Given the description of an element on the screen output the (x, y) to click on. 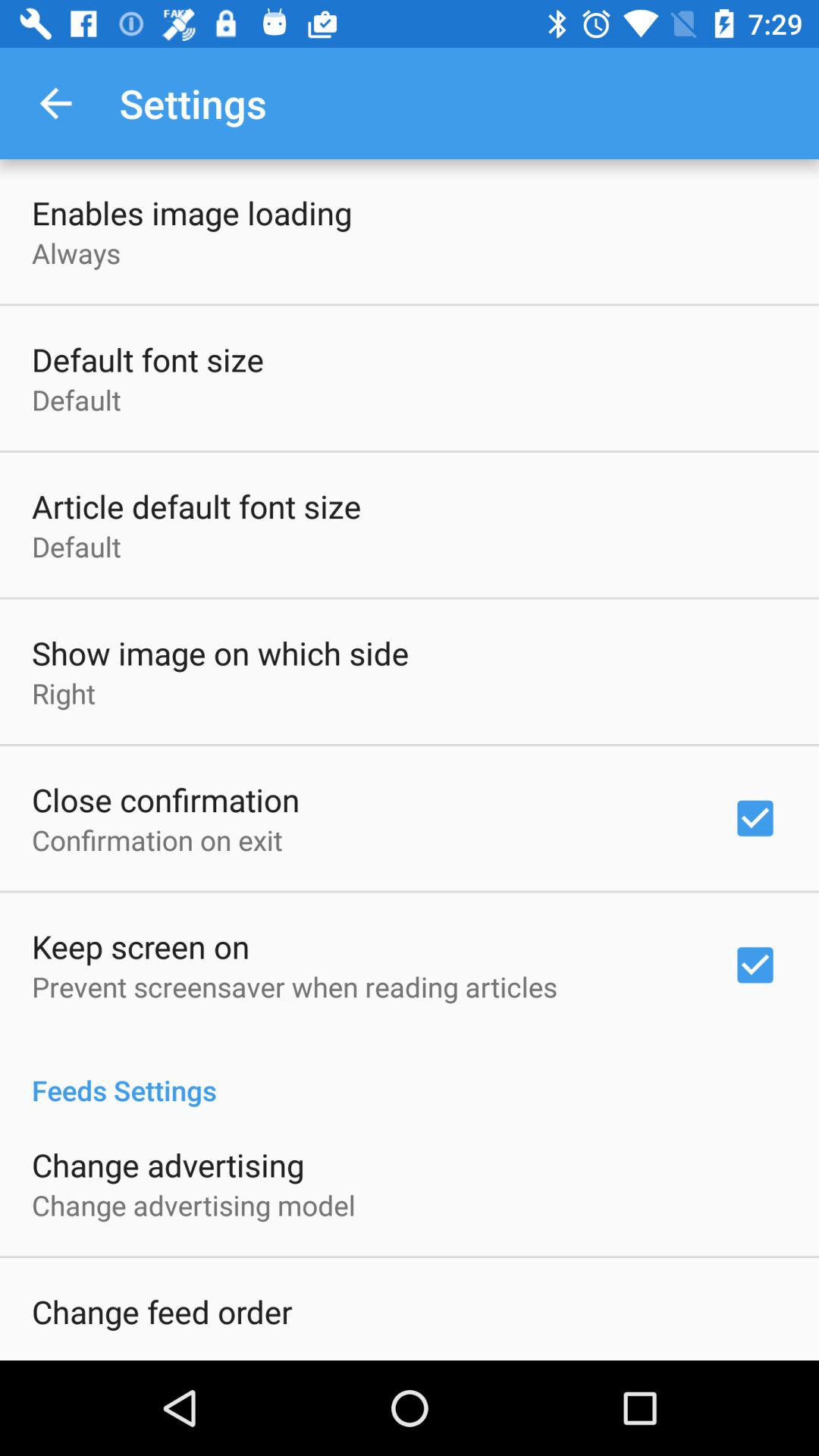
open change feed order (161, 1311)
